Given the description of an element on the screen output the (x, y) to click on. 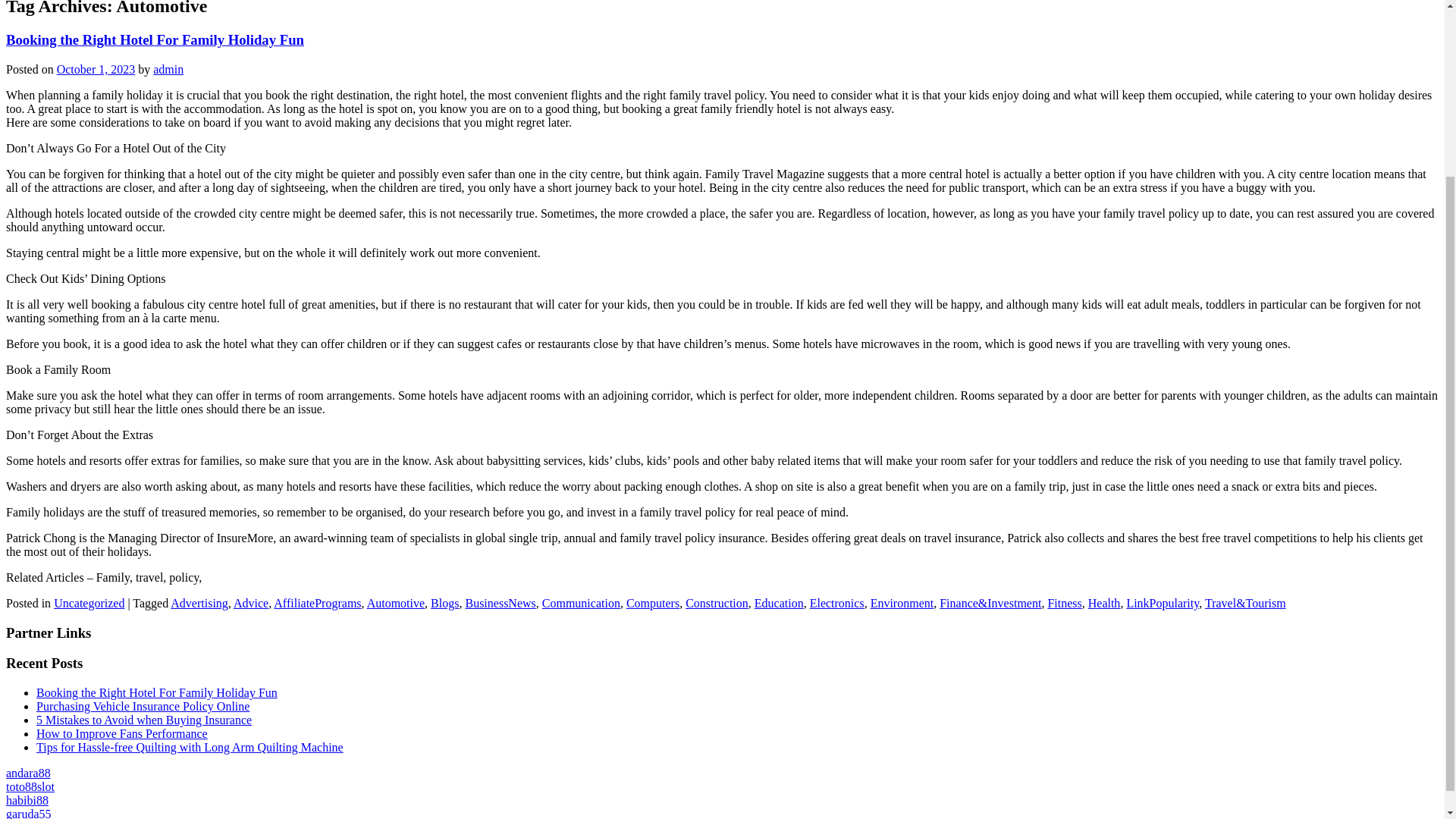
BusinessNews (499, 603)
Purchasing Vehicle Insurance Policy Online (142, 706)
Electronics (836, 603)
Health (1104, 603)
admin (167, 69)
Booking the Right Hotel For Family Holiday Fun (154, 39)
AffiliatePrograms (317, 603)
toto88slot (30, 786)
5 Mistakes to Avoid when Buying Insurance (143, 719)
Tips for Hassle-free Quilting with Long Arm Quilting Machine (189, 747)
Computers (652, 603)
6:48 pm (95, 69)
How to Improve Fans Performance (122, 733)
Tips for Hassle-free Quilting with Long Arm Quilting Machine (189, 747)
View all posts by admin (167, 69)
